Given the description of an element on the screen output the (x, y) to click on. 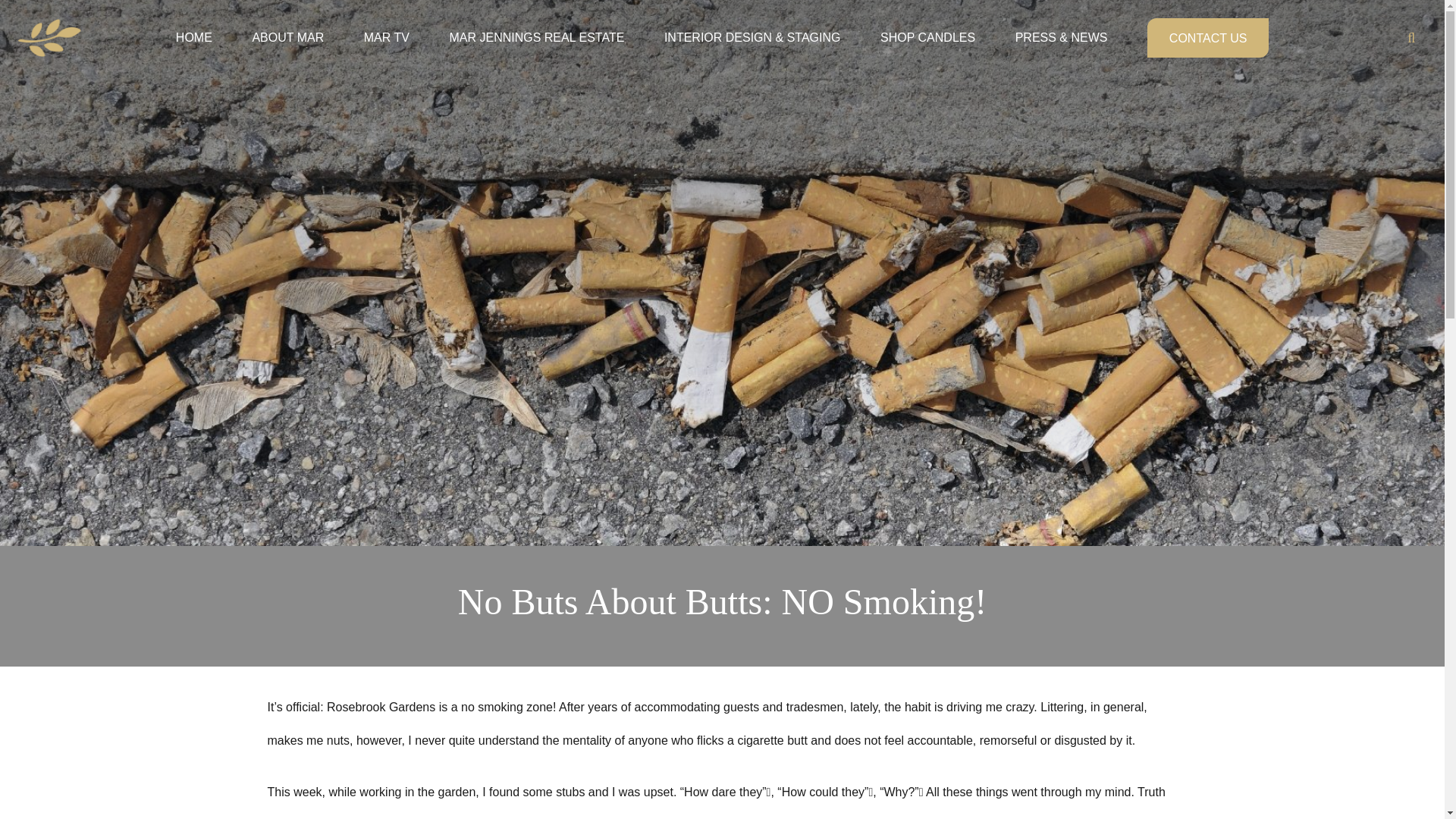
CONTACT US (1207, 31)
HOME (193, 13)
MAR TV (387, 18)
SHOP CANDLES (927, 27)
ABOUT MAR (287, 14)
MAR JENNINGS REAL ESTATE (536, 18)
